Given the description of an element on the screen output the (x, y) to click on. 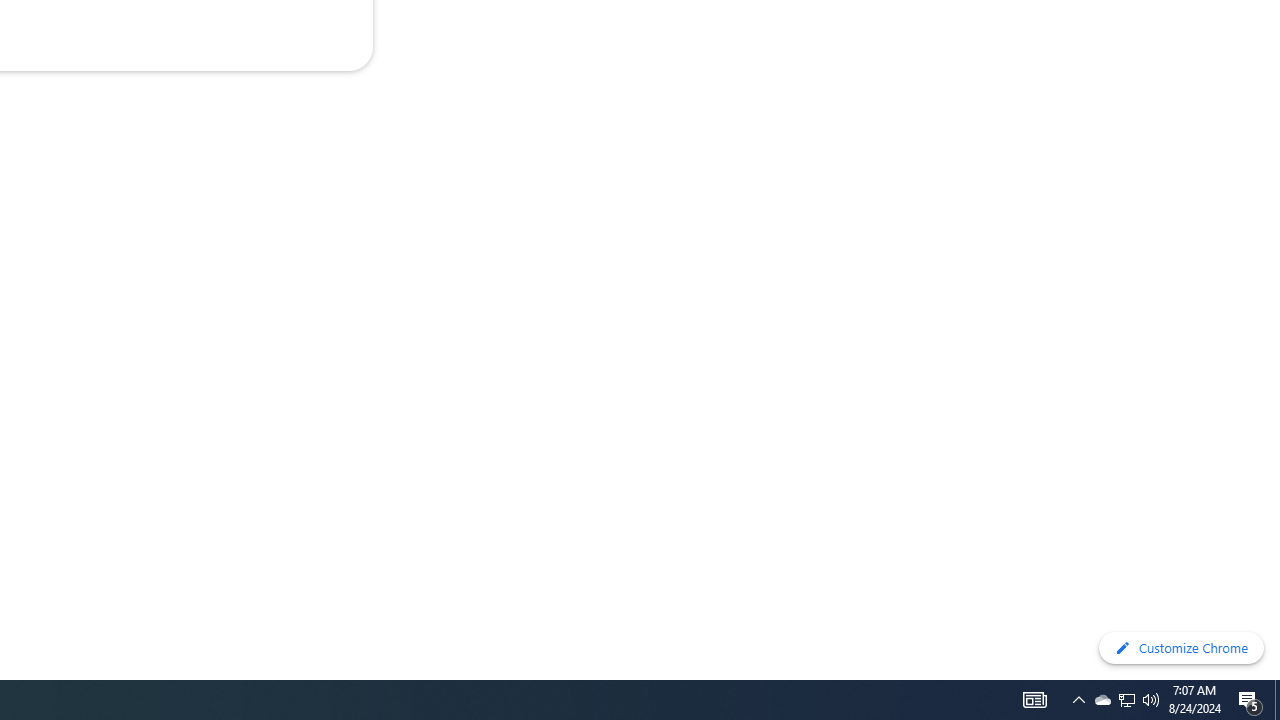
Customize Chrome (1181, 647)
